Given the description of an element on the screen output the (x, y) to click on. 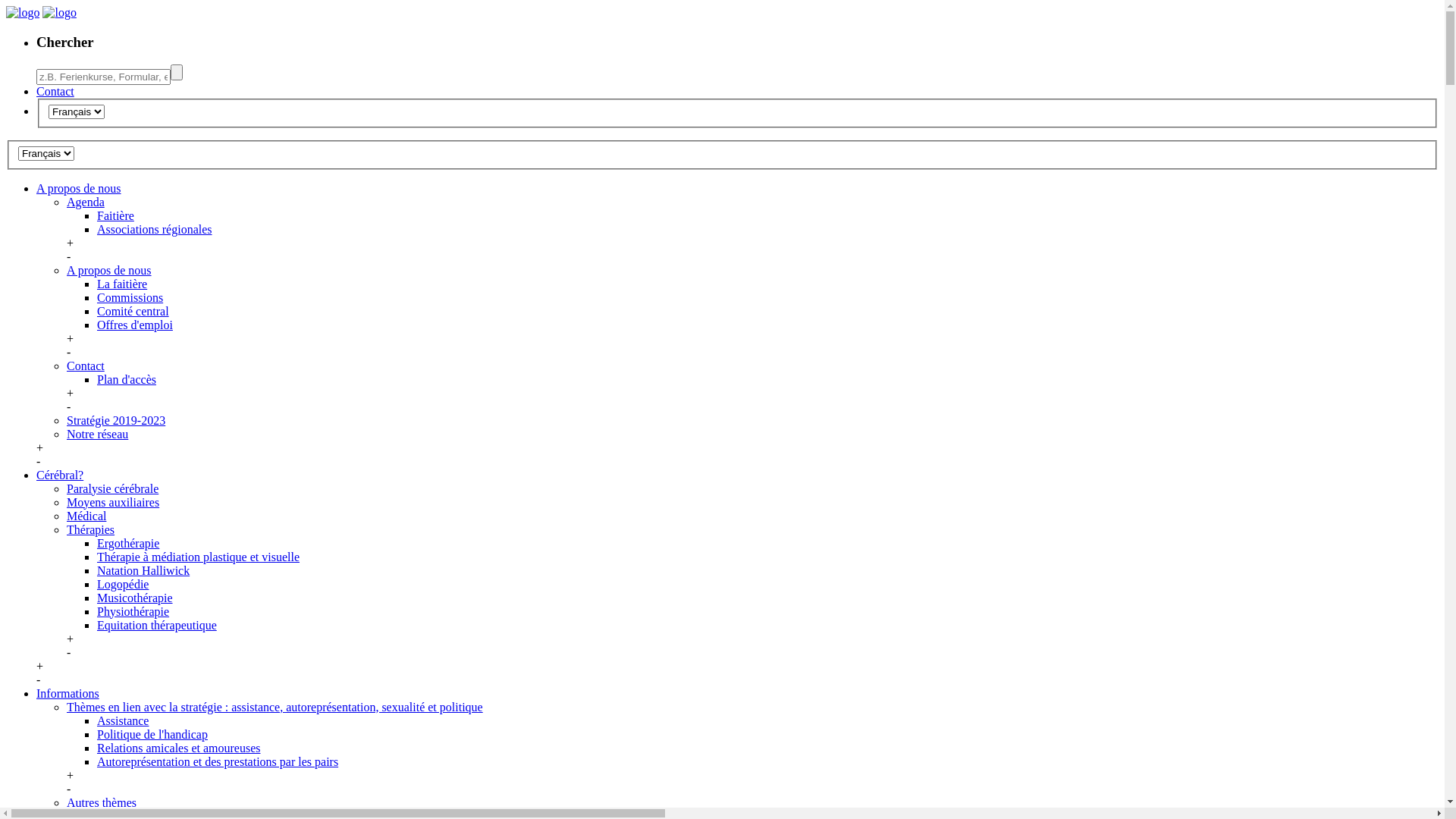
A propos de nous Element type: text (78, 188)
Natation Halliwick Element type: text (143, 570)
Contact Element type: text (85, 365)
Commissions Element type: text (130, 297)
Assistance Element type: text (122, 720)
Informations Element type: text (67, 693)
Relations amicales et amoureuses Element type: text (178, 747)
Moyens auxiliaires Element type: text (112, 501)
Politique de l'handicap Element type: text (152, 734)
Agenda Element type: text (85, 201)
A propos de nous Element type: text (108, 269)
Offres d'emploi Element type: text (134, 324)
Contact Element type: text (55, 90)
